Given the description of an element on the screen output the (x, y) to click on. 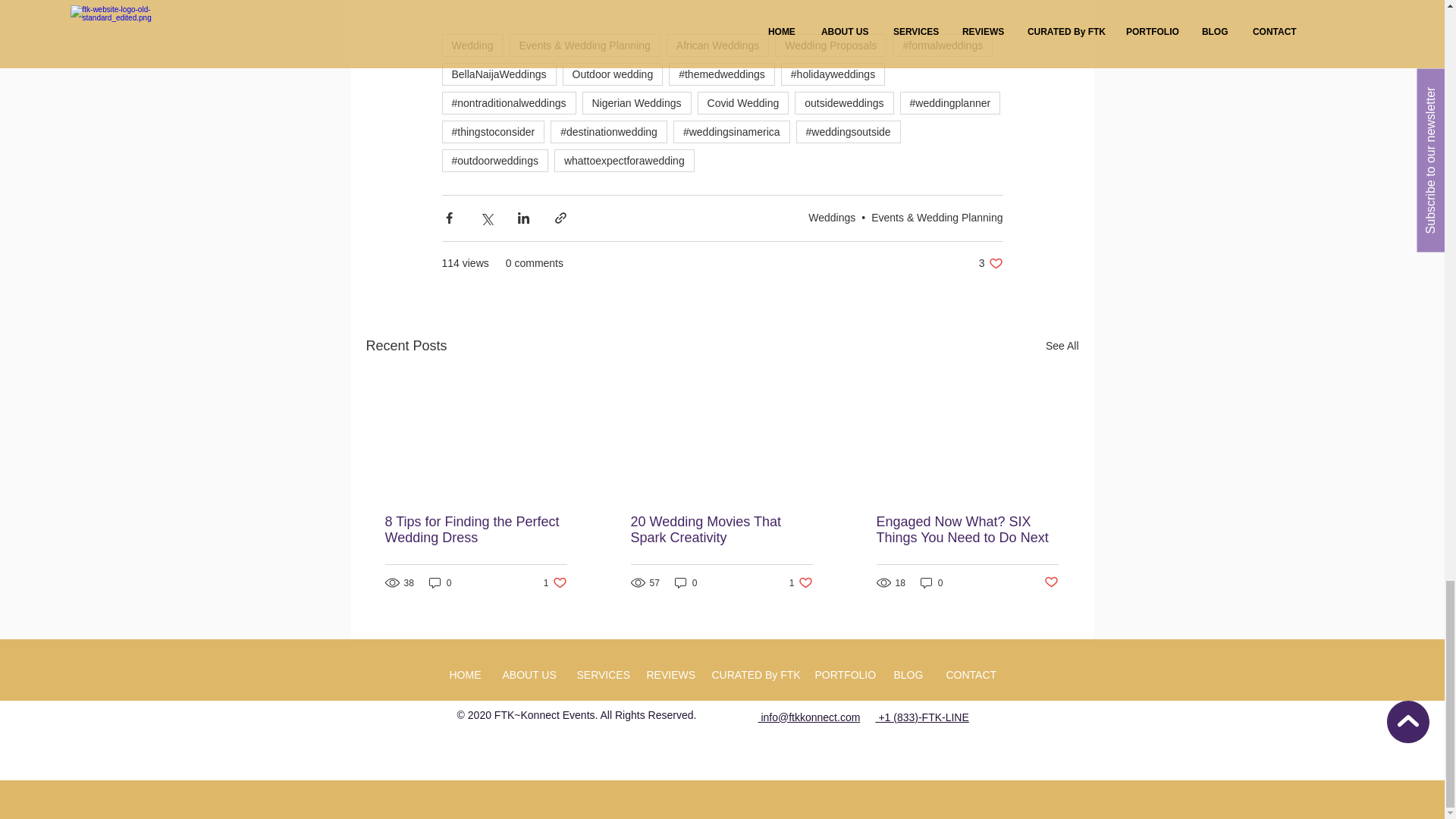
Nigerian Weddings (636, 102)
whattoexpectforawedding (624, 160)
Wedding (471, 45)
African Weddings (717, 45)
BellaNaijaWeddings (498, 74)
outsideweddings (843, 102)
Outdoor wedding (612, 74)
Covid Wedding (743, 102)
Wedding Proposals (830, 45)
